Given the description of an element on the screen output the (x, y) to click on. 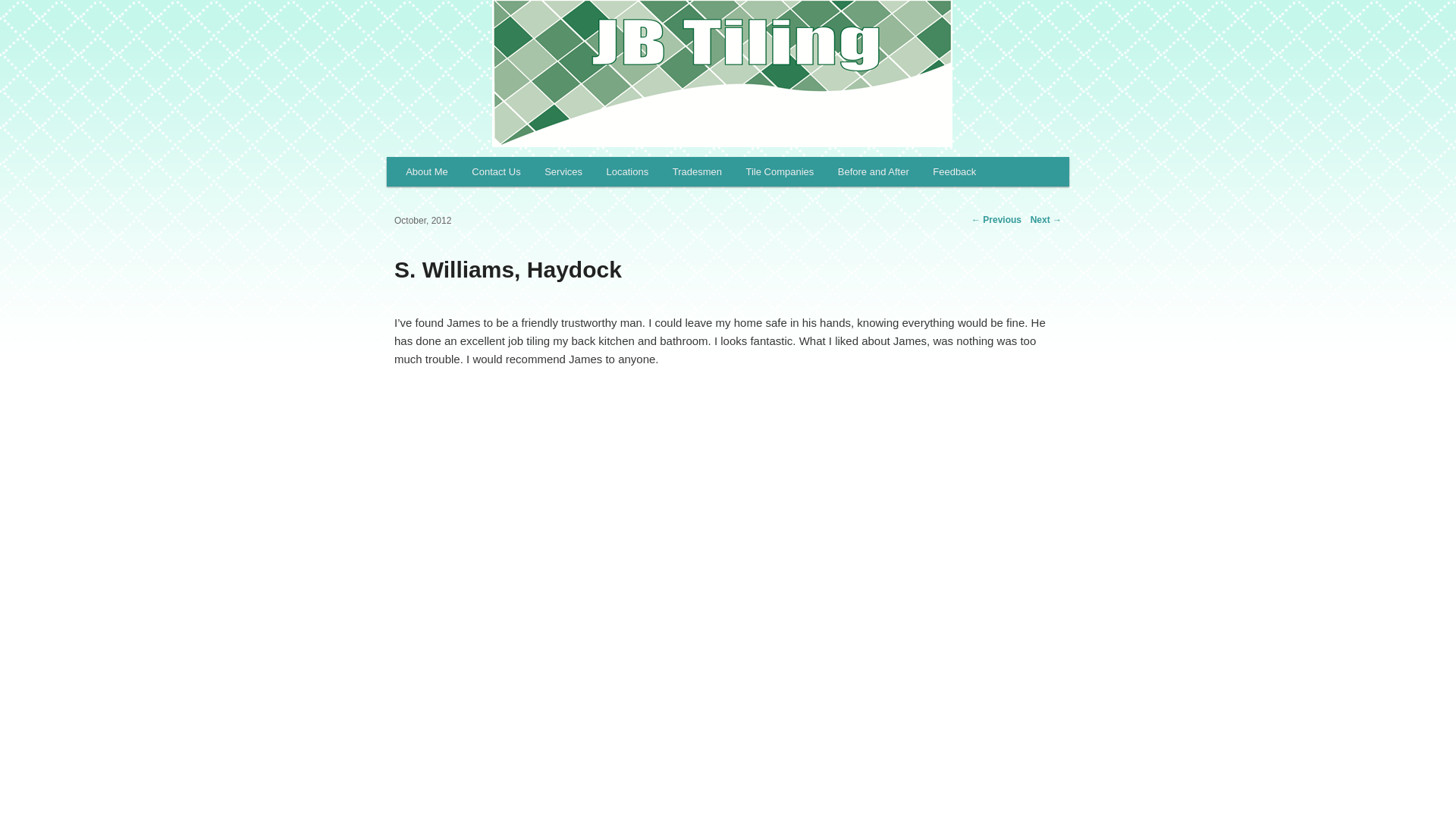
About Me (426, 170)
Contact Us (496, 170)
Skip to primary content (473, 173)
Locations (627, 170)
Before and After (872, 170)
S. Williams, Haydock (507, 269)
Services (563, 170)
Tradesmen (697, 170)
Permalink to S. Williams, Haydock (507, 269)
Skip to primary content (473, 173)
